Given the description of an element on the screen output the (x, y) to click on. 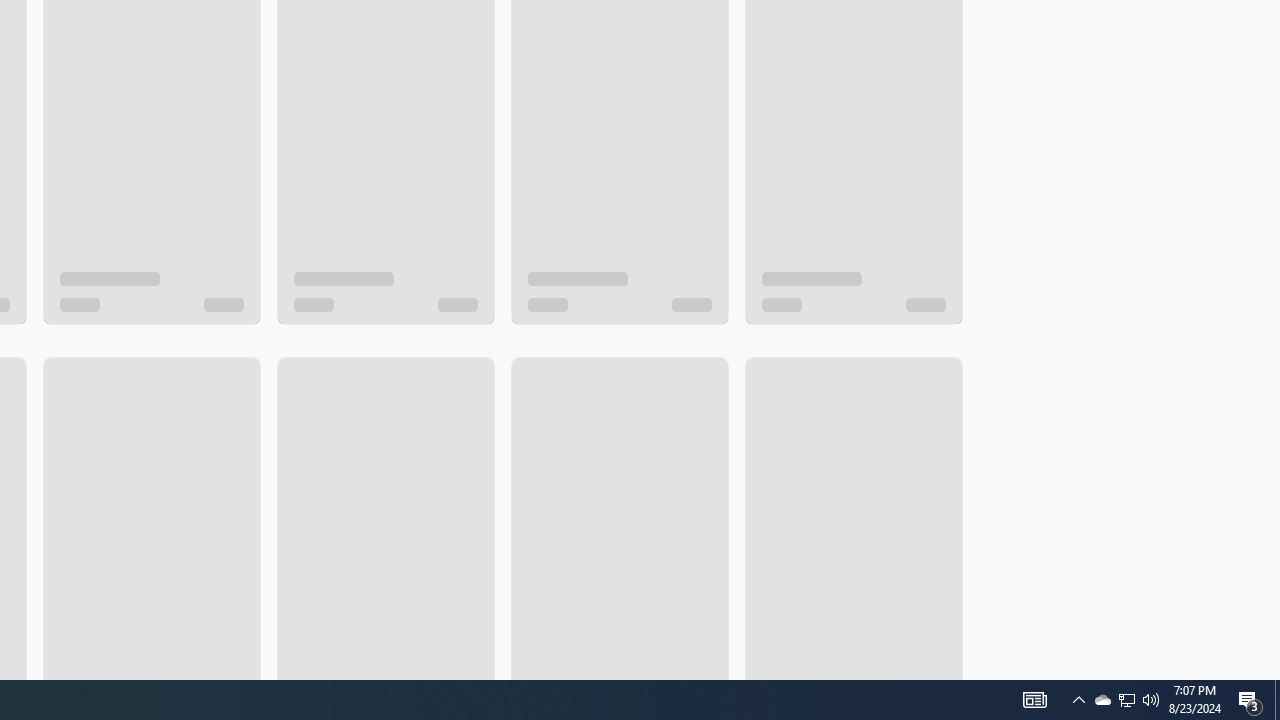
Vertical Small Increase (1272, 672)
